Given the description of an element on the screen output the (x, y) to click on. 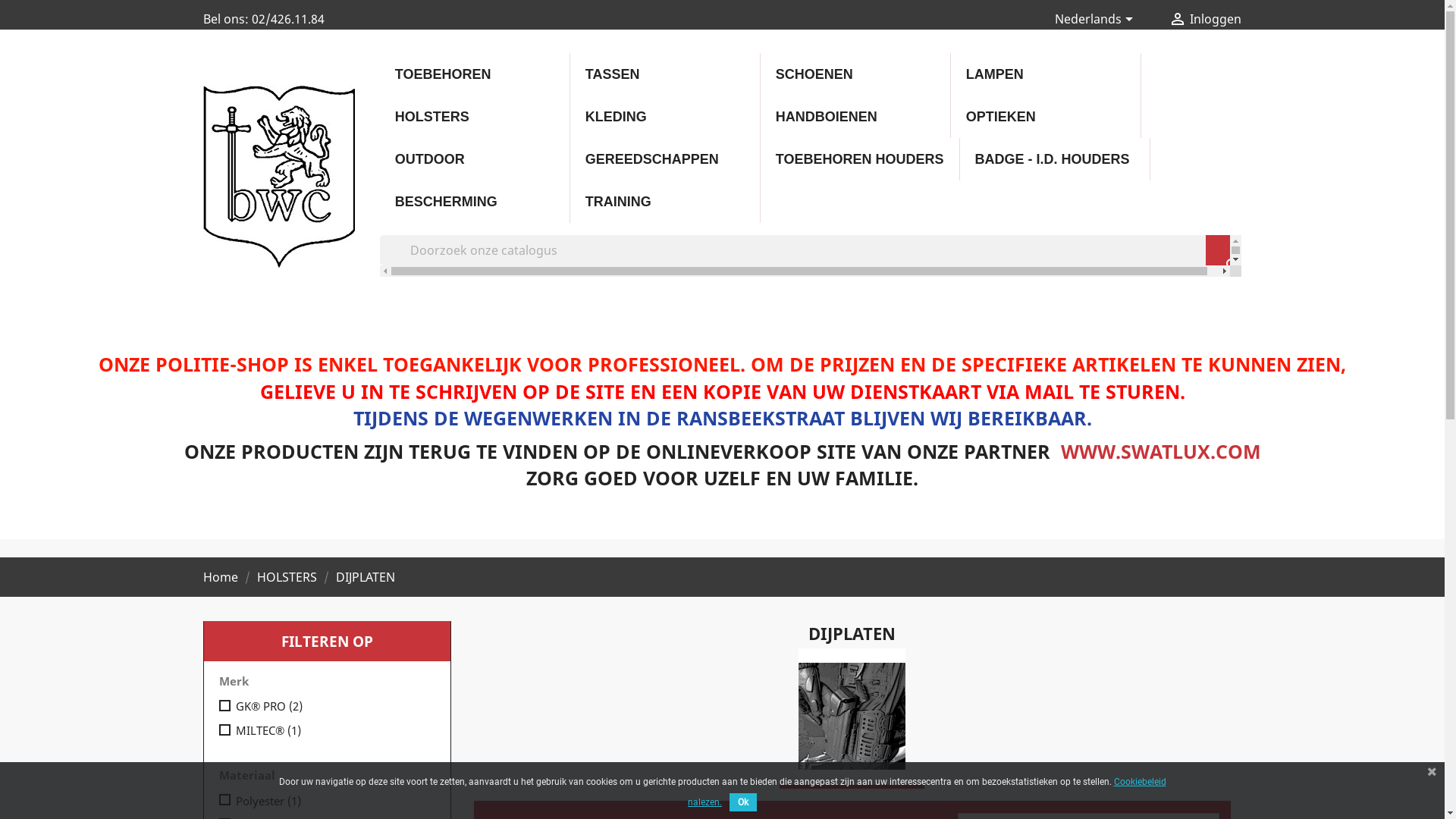
BADGE - I.D. HOUDERS Element type: text (1054, 159)
Ok Element type: text (742, 802)
TRAINING Element type: text (664, 201)
Home Element type: text (222, 576)
HOLSTERS Element type: text (474, 116)
KLEDING Element type: text (664, 116)
SCHOENEN Element type: text (855, 74)
OPTIEKEN Element type: text (1045, 116)
HANDBOIENEN Element type: text (855, 116)
DIJPLATEN Element type: text (364, 576)
WWW.SWATLUX.COM Element type: text (1160, 451)
TASSEN Element type: text (664, 74)
TOEBEHOREN Element type: text (474, 74)
GEREEDSCHAPPEN Element type: text (664, 159)
TOEBEHOREN HOUDERS Element type: text (859, 159)
LAMPEN Element type: text (1045, 74)
Cookiebeleid nalezen. Element type: text (926, 790)
HOLSTERS Element type: text (287, 576)
OUTDOOR Element type: text (474, 159)
BESCHERMING Element type: text (474, 201)
Polyester (1) Element type: text (332, 800)
